Given the description of an element on the screen output the (x, y) to click on. 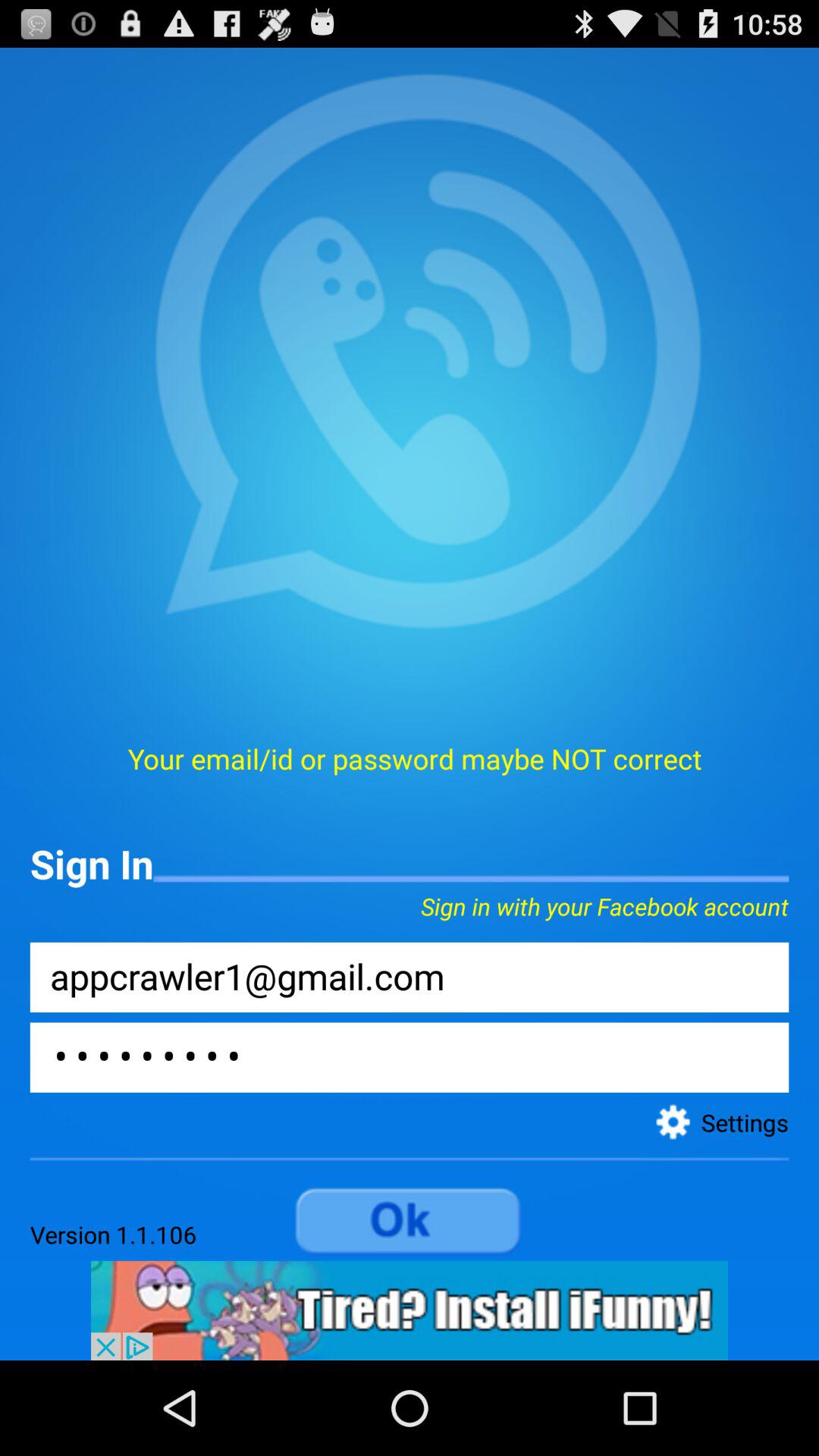
ok button (409, 1221)
